Given the description of an element on the screen output the (x, y) to click on. 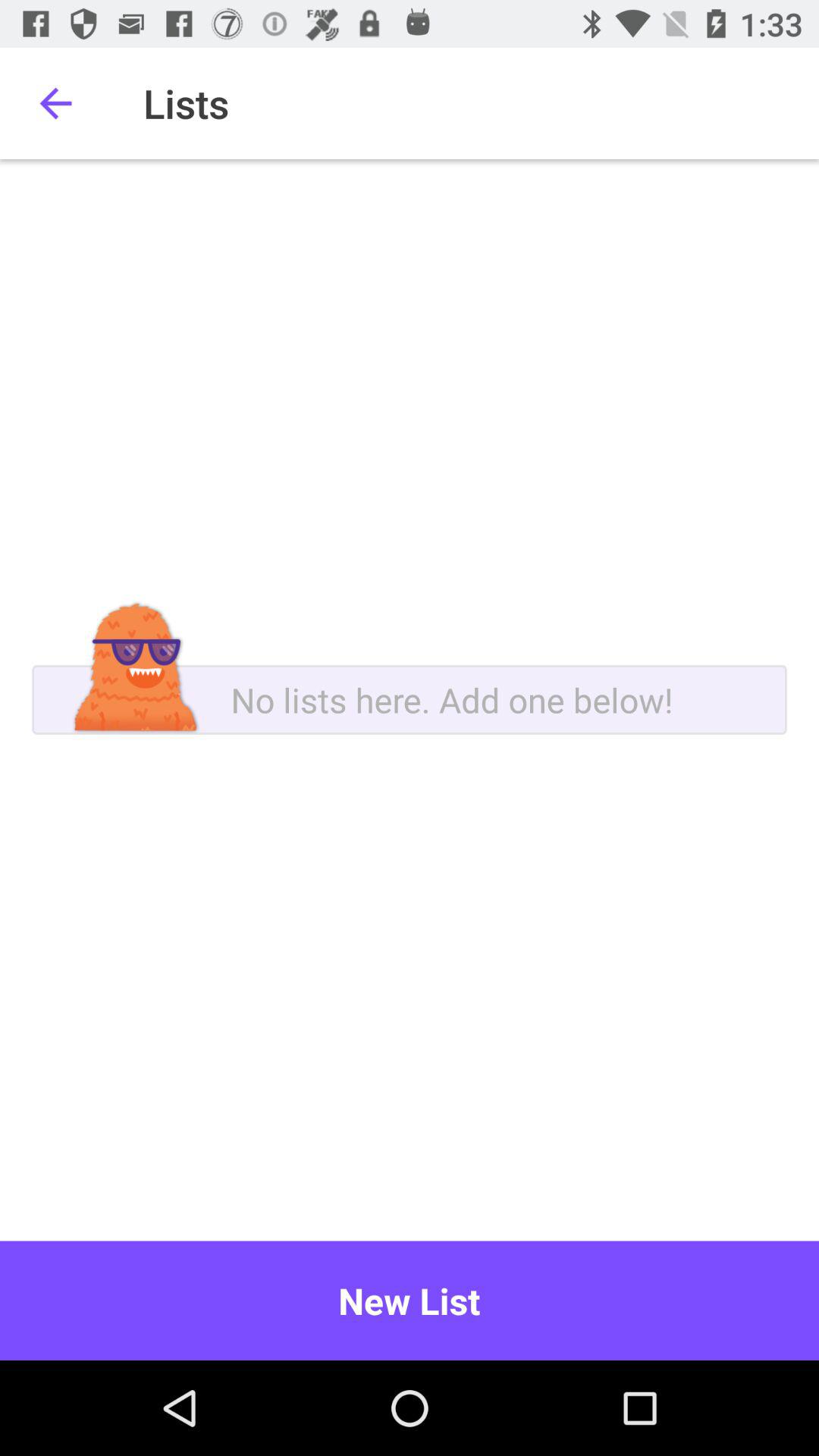
add a new list (409, 700)
